Given the description of an element on the screen output the (x, y) to click on. 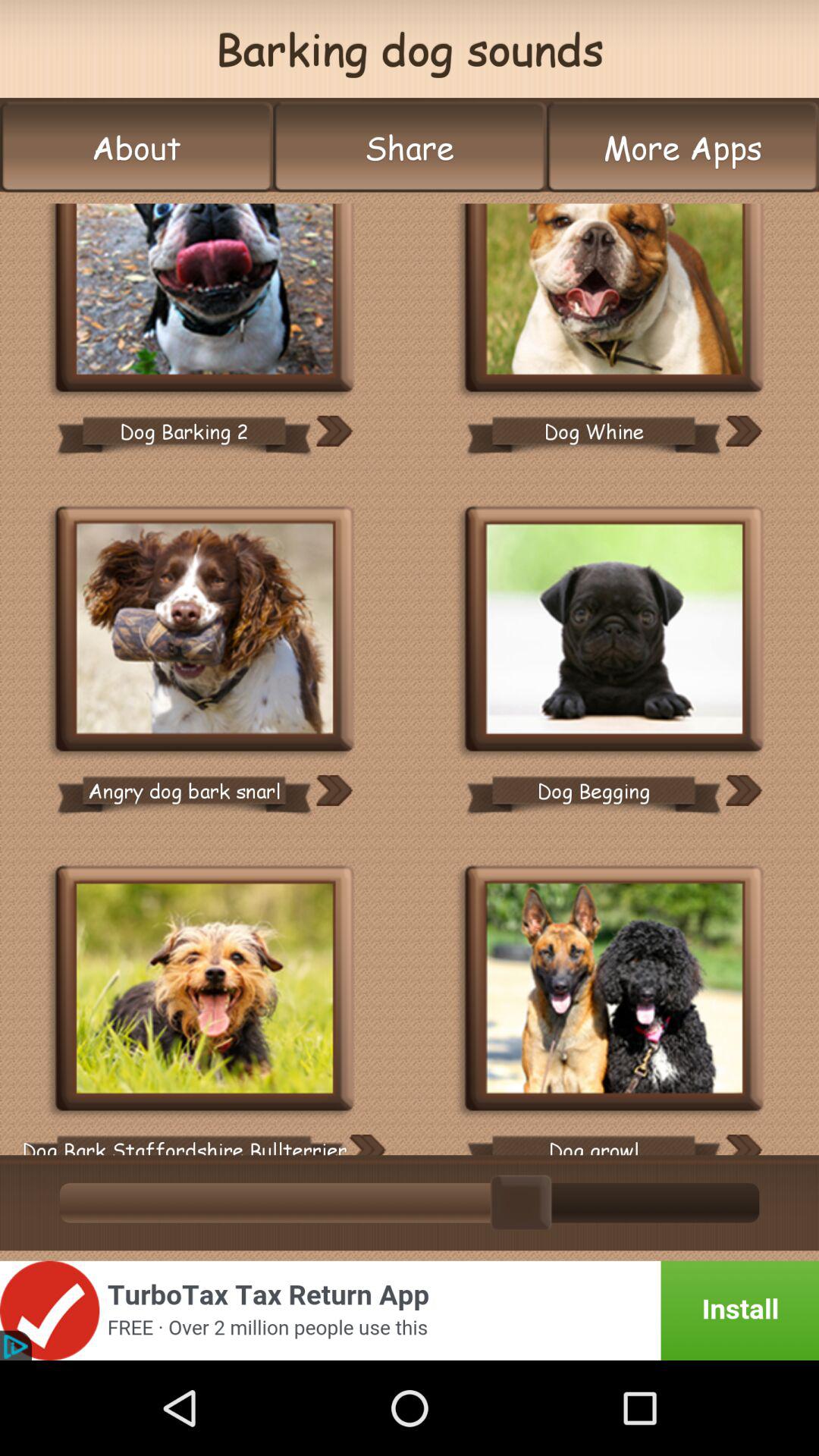
play angry dog bark snarl (204, 630)
